Given the description of an element on the screen output the (x, y) to click on. 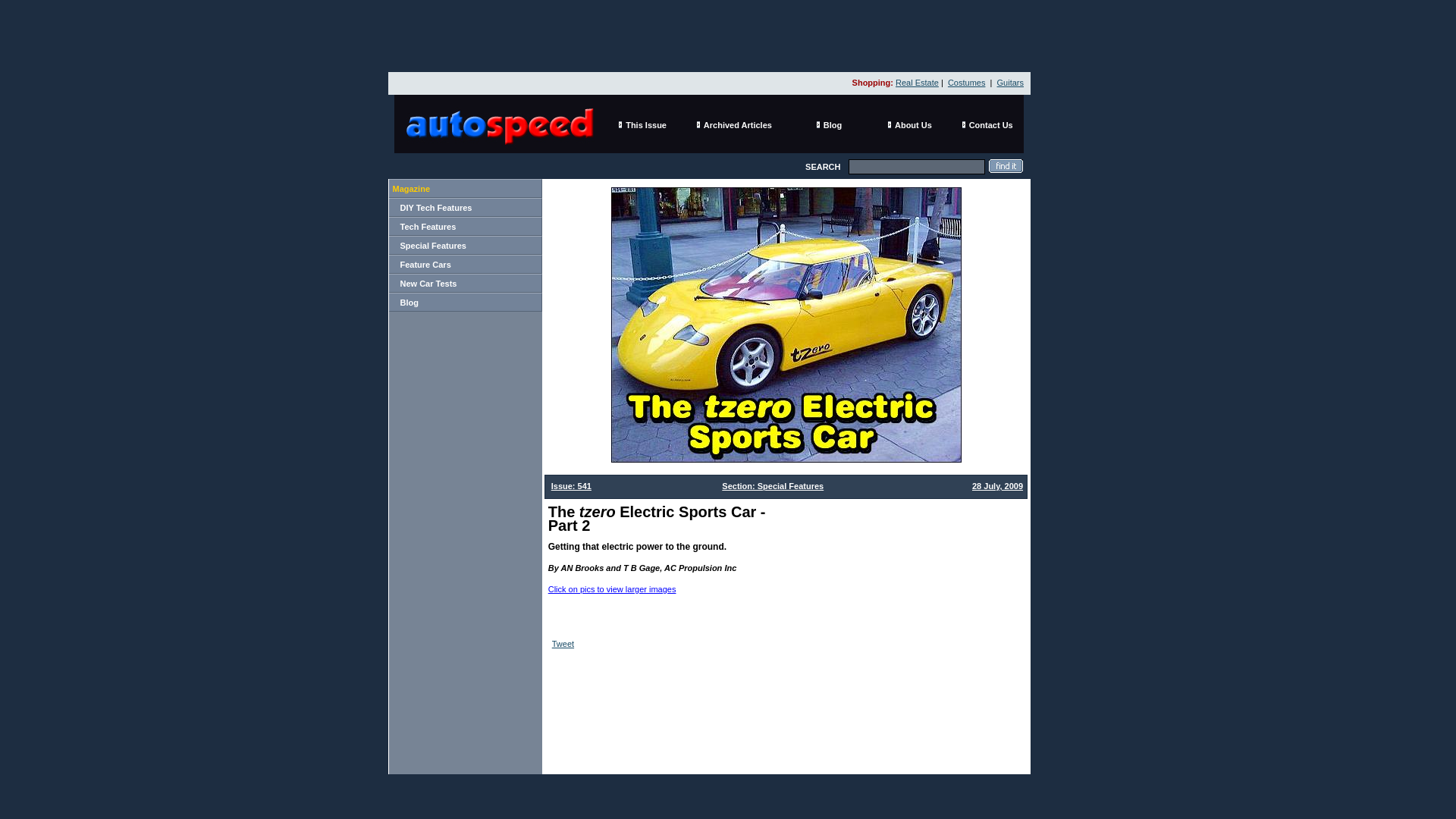
Costumes (966, 81)
Feature Cars (425, 263)
Real Estate (917, 81)
Special Features (432, 245)
28 July, 2009 (997, 485)
Costumes (966, 81)
Tech Features (428, 225)
Contact Us (991, 124)
About Us (913, 124)
Tweet (562, 643)
